Given the description of an element on the screen output the (x, y) to click on. 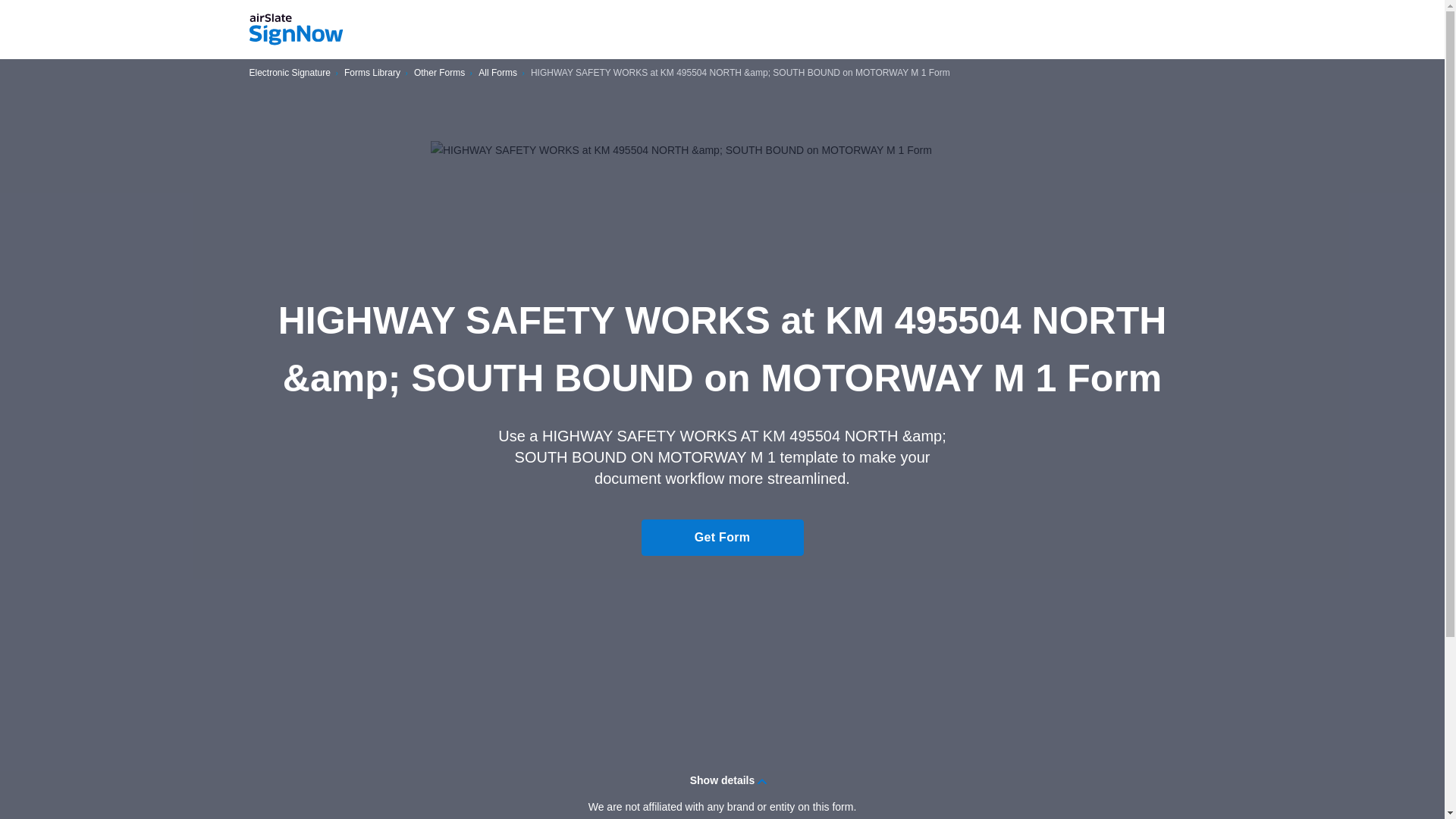
Other Forms (438, 73)
signNow (295, 29)
All Forms (497, 73)
Show details (722, 780)
Forms Library (371, 73)
Electronic Signature (289, 73)
Get Form (722, 537)
